Given the description of an element on the screen output the (x, y) to click on. 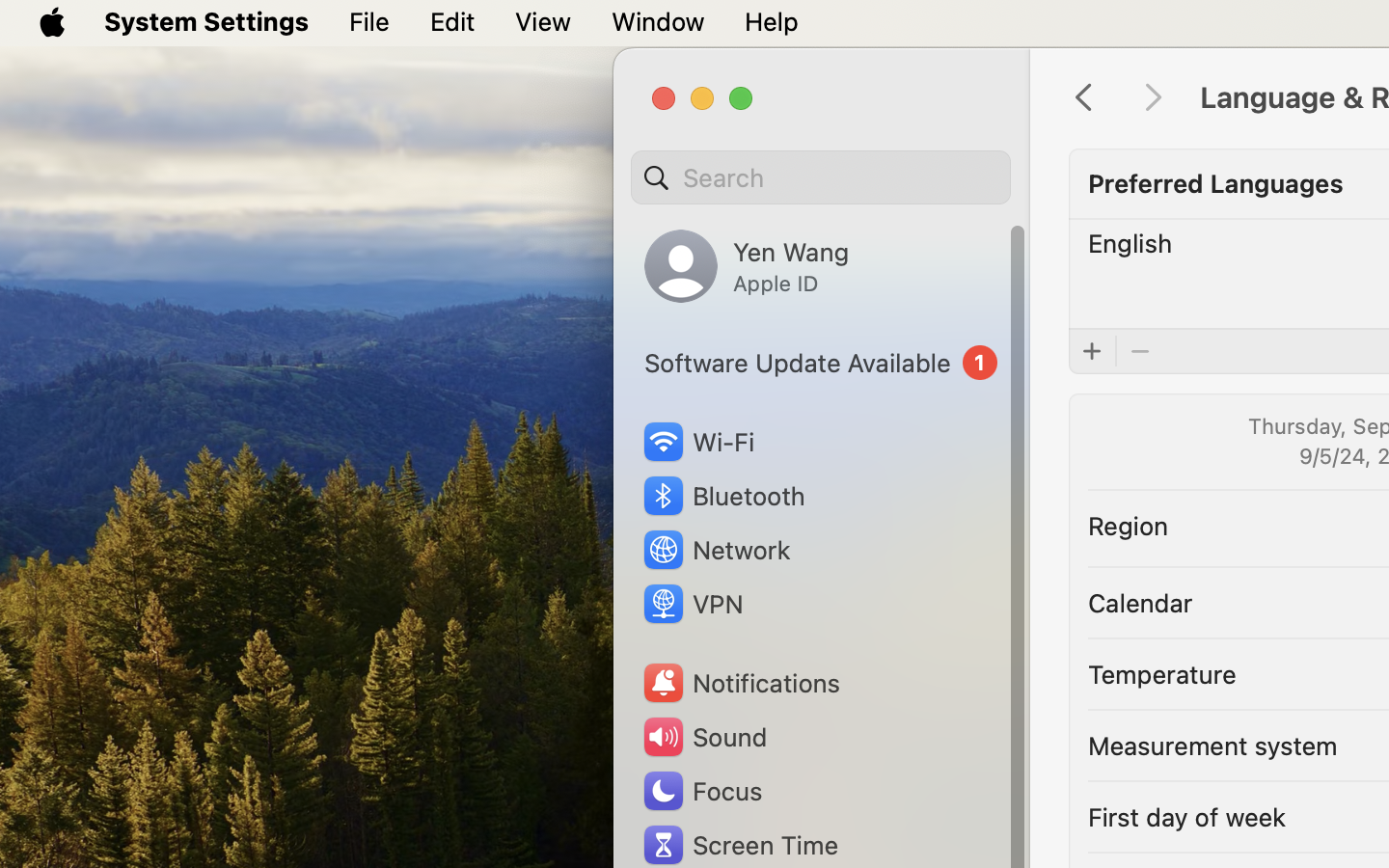
English Element type: AXStaticText (1130, 242)
Sound Element type: AXStaticText (703, 736)
VPN Element type: AXStaticText (691, 603)
Bluetooth Element type: AXStaticText (723, 495)
Screen Time Element type: AXStaticText (739, 844)
